Given the description of an element on the screen output the (x, y) to click on. 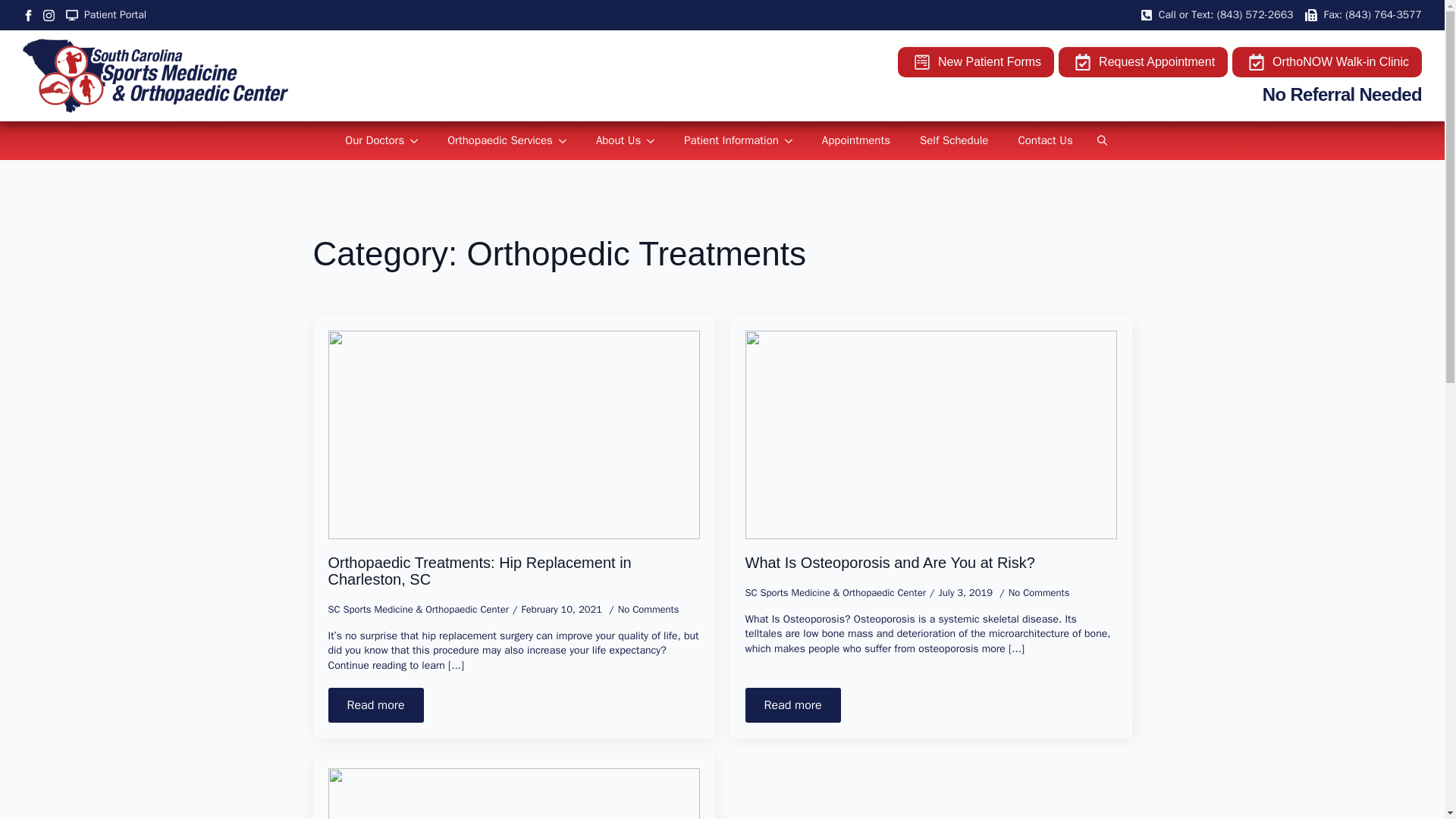
New Patient Forms (976, 61)
Patient Portal (106, 14)
Our Doctors (368, 140)
Request Appointment (1142, 61)
OrthoNOW Walk-in Clinic (1326, 61)
Orthopaedic Services (494, 140)
